Given the description of an element on the screen output the (x, y) to click on. 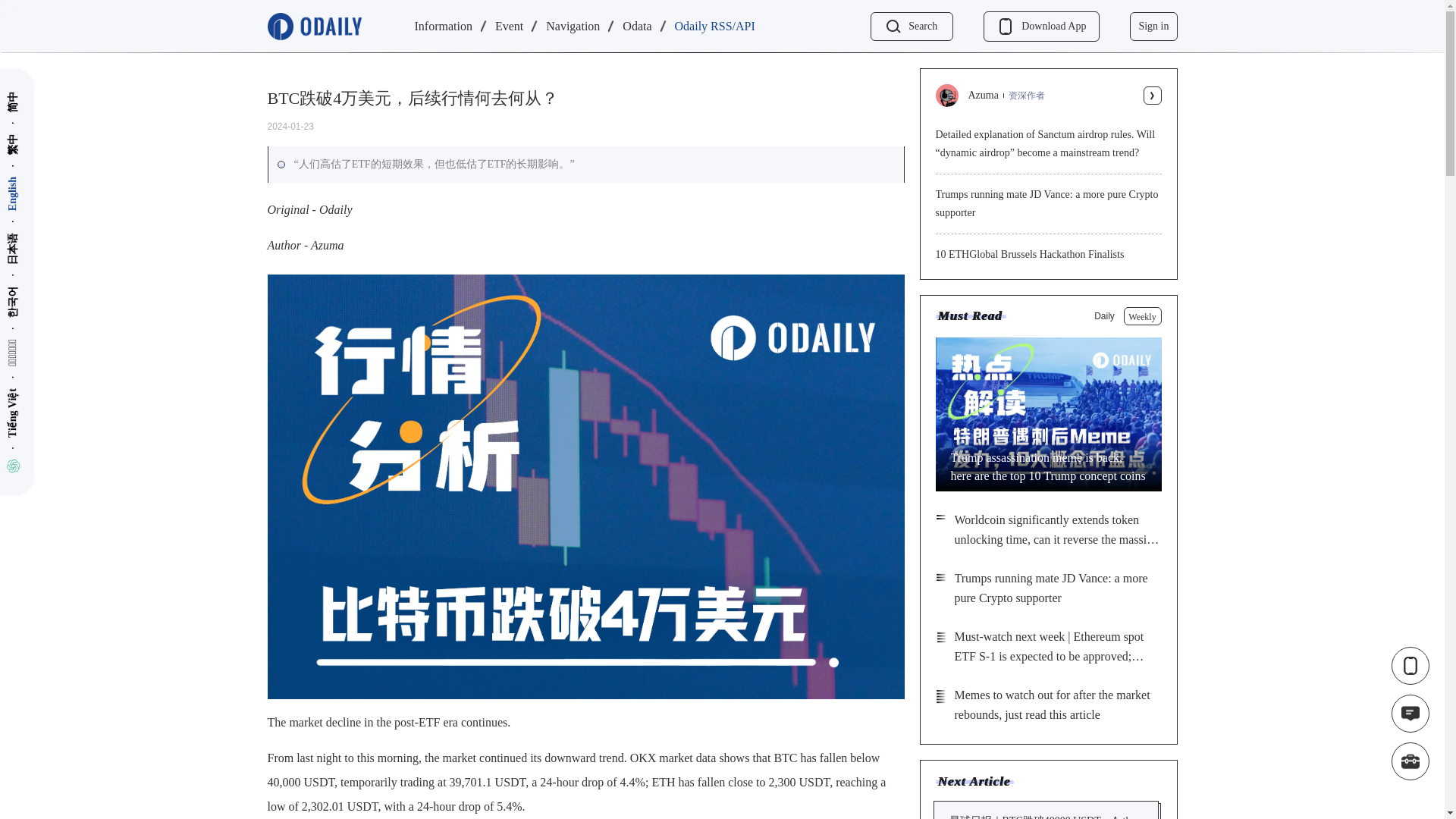
Information (442, 26)
Navigation (572, 26)
